Given the description of an element on the screen output the (x, y) to click on. 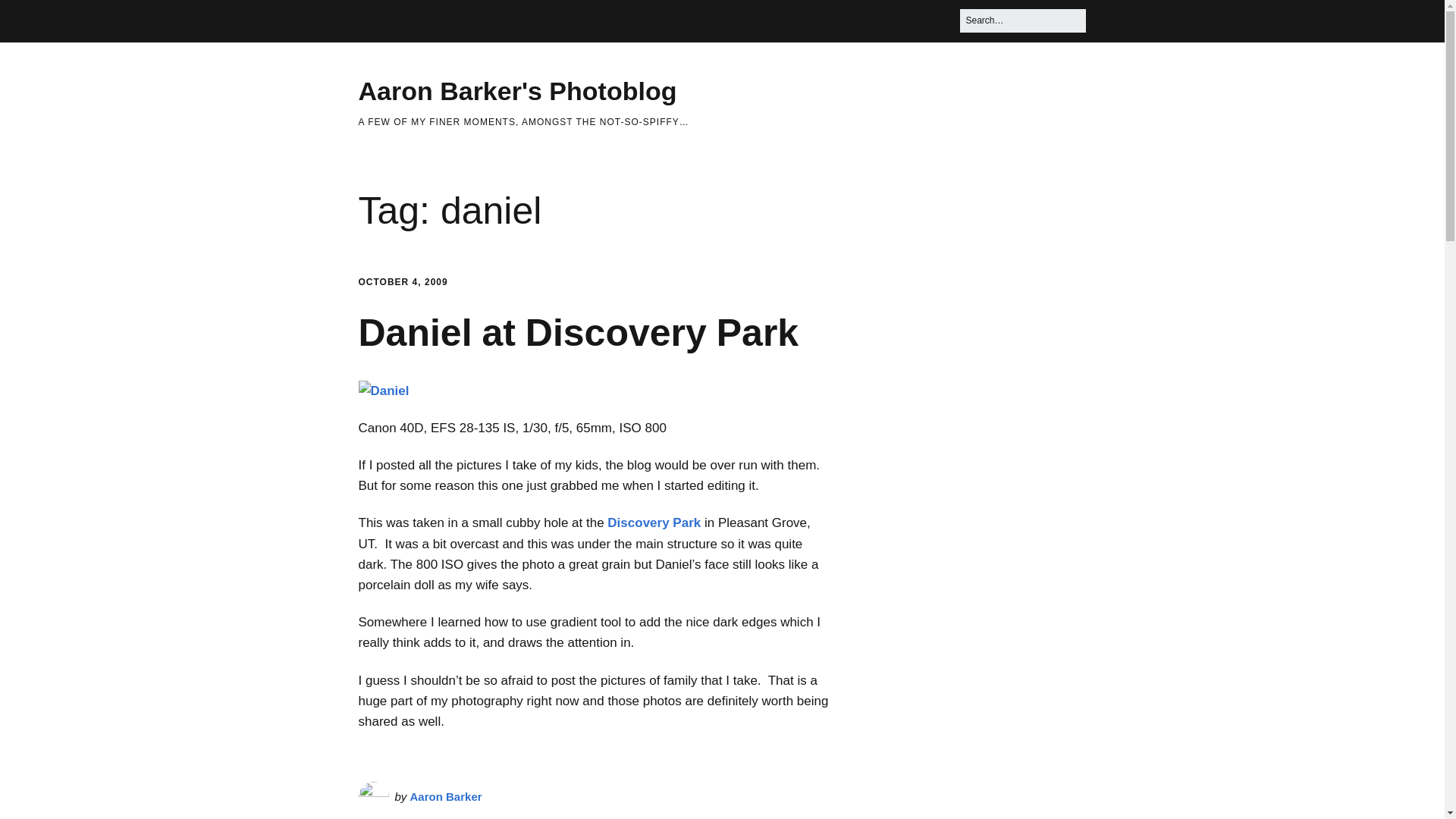
Aaron Barker's Photoblog (517, 90)
OCTOBER 4, 2009 (402, 281)
Press Enter to submit your search (1022, 20)
Daniel at Discovery Park (577, 332)
Daniel (383, 390)
Discovery Park (653, 522)
Search (29, 16)
Aaron Barker (445, 796)
